Given the description of an element on the screen output the (x, y) to click on. 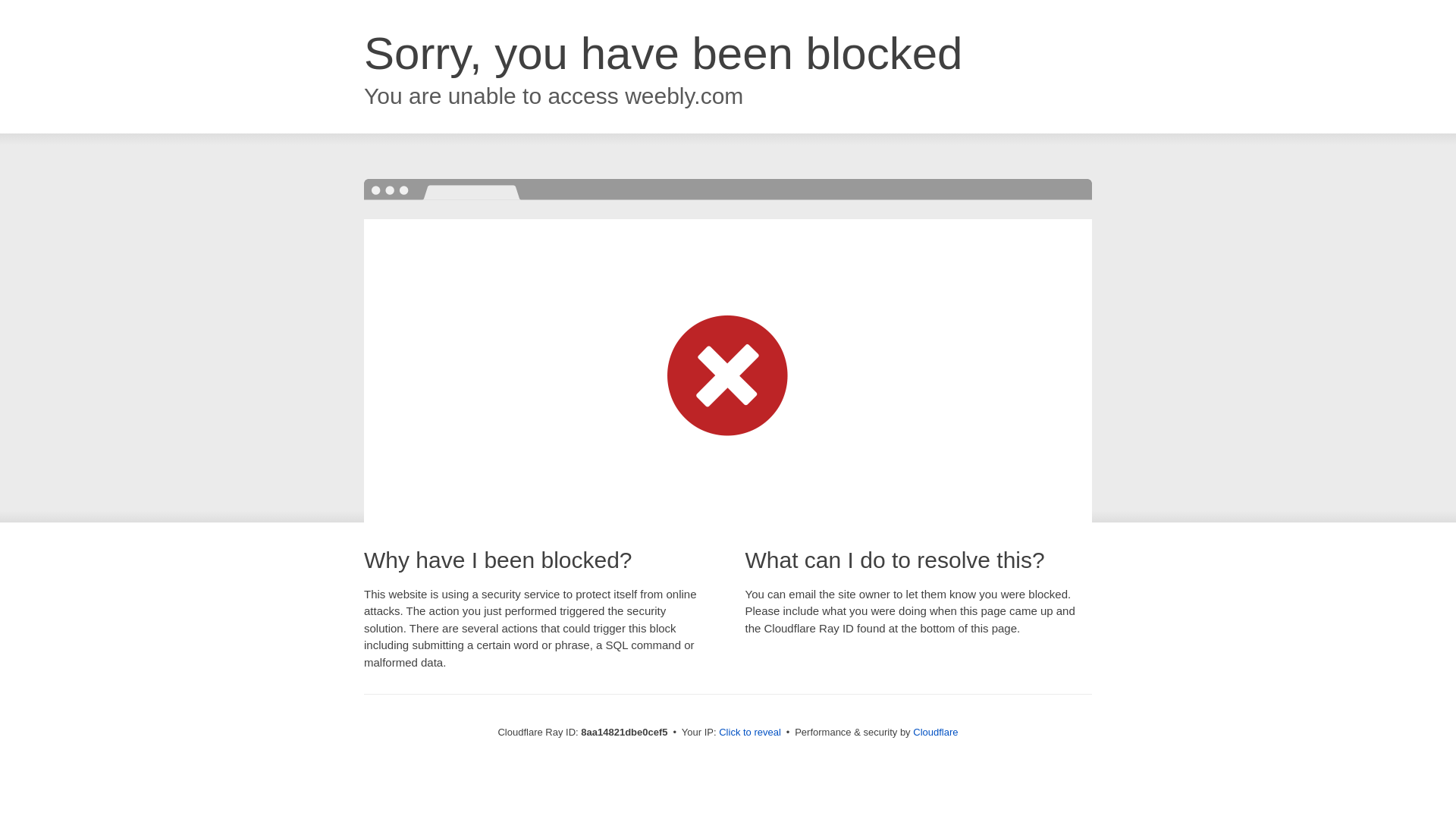
Cloudflare (935, 731)
Click to reveal (749, 732)
